Given the description of an element on the screen output the (x, y) to click on. 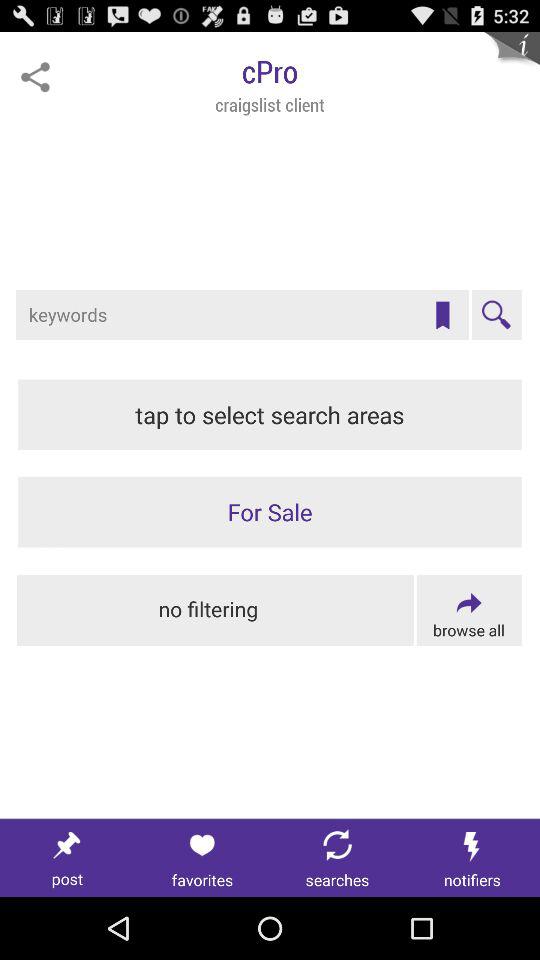
post this (67, 858)
